Given the description of an element on the screen output the (x, y) to click on. 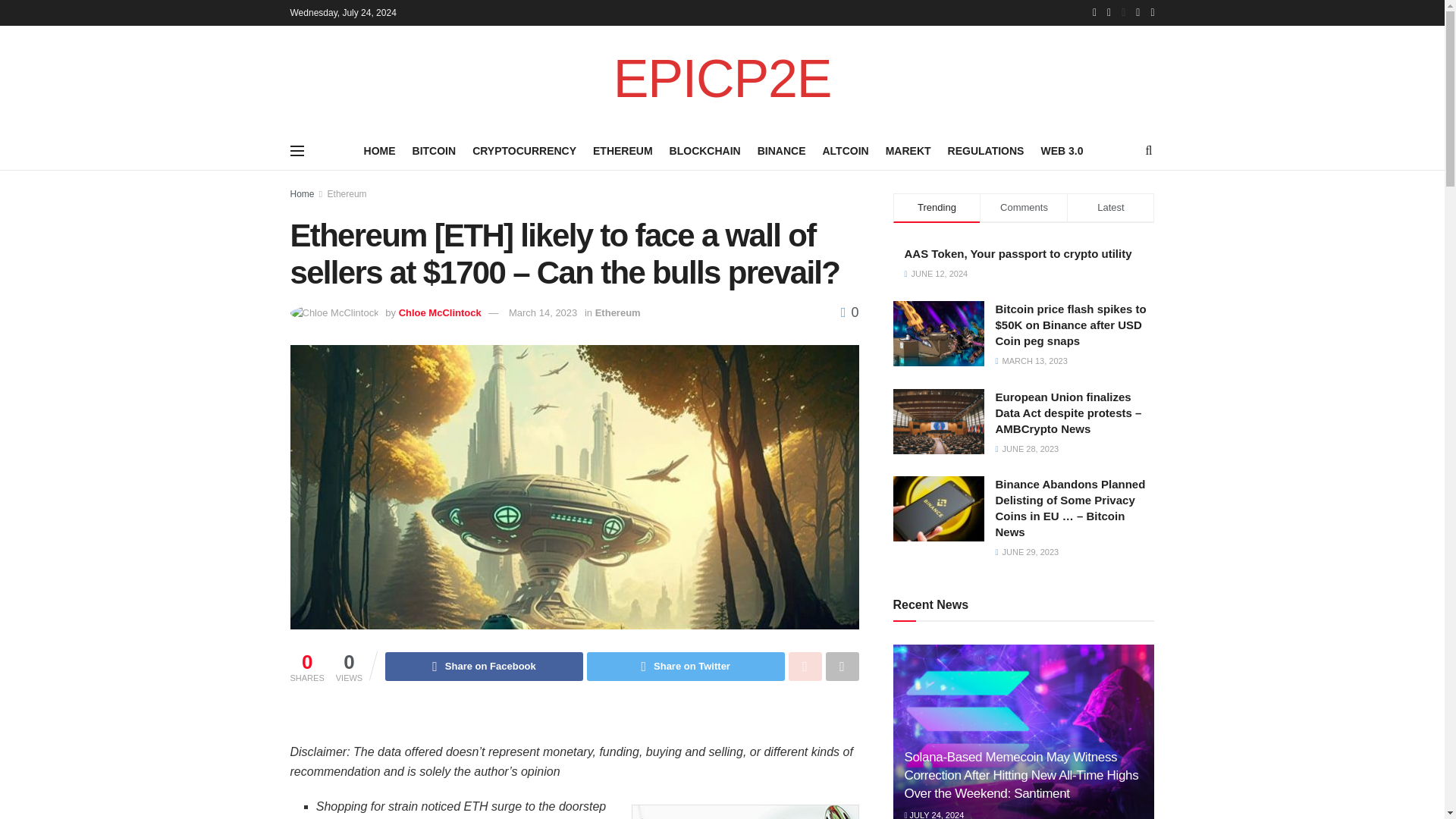
BINANCE (781, 150)
Ethereum (617, 312)
ALTCOIN (844, 150)
Ethereum (346, 194)
BITCOIN (434, 150)
Home (301, 194)
ETHEREUM (622, 150)
Share on Facebook (484, 665)
WEB 3.0 (1062, 150)
REGULATIONS (986, 150)
March 14, 2023 (542, 312)
HOME (380, 150)
MAREKT (908, 150)
CRYPTOCURRENCY (523, 150)
BLOCKCHAIN (705, 150)
